Given the description of an element on the screen output the (x, y) to click on. 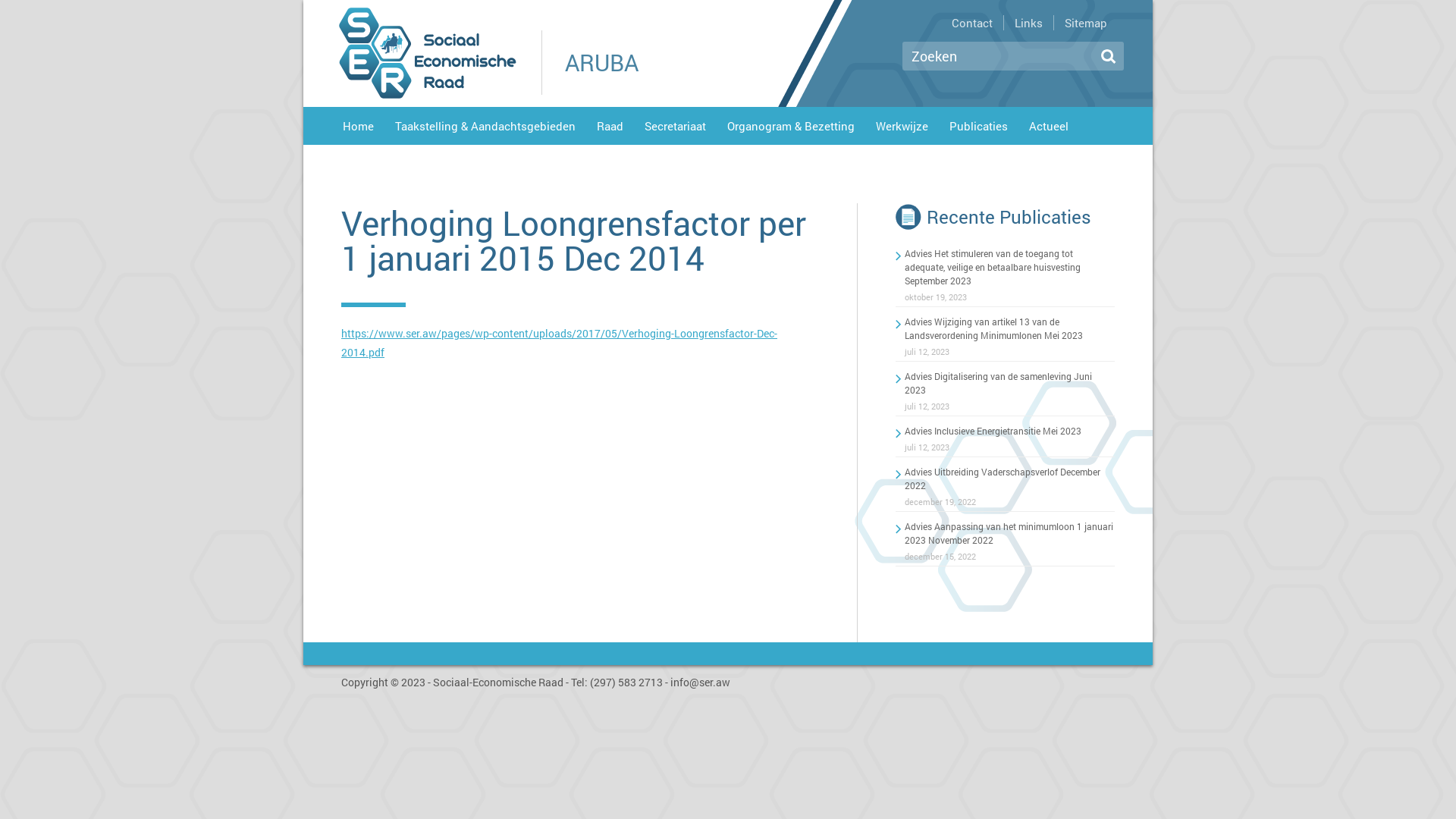
Contact Element type: text (970, 22)
Werkwijze Element type: text (901, 129)
Publicaties Element type: text (978, 129)
Advies Inclusieve Energietransitie Mei 2023 Element type: text (992, 430)
Links Element type: text (1027, 22)
Organogram & Bezetting Element type: text (790, 129)
Advies Uitbreiding Vaderschapsverlof December 2022 Element type: text (1002, 478)
Secretariaat Element type: text (675, 129)
Actueel Element type: text (1048, 129)
De Sociaal Economische Raad - Aruba Element type: text (427, 52)
Sitemap Element type: text (1084, 22)
Raad Element type: text (609, 129)
Home Element type: text (357, 129)
Advies Digitalisering van de samenleving Juni 2023 Element type: text (998, 382)
Taakstelling & Aandachtsgebieden Element type: text (485, 129)
info@ser.aw Element type: text (700, 681)
